Given the description of an element on the screen output the (x, y) to click on. 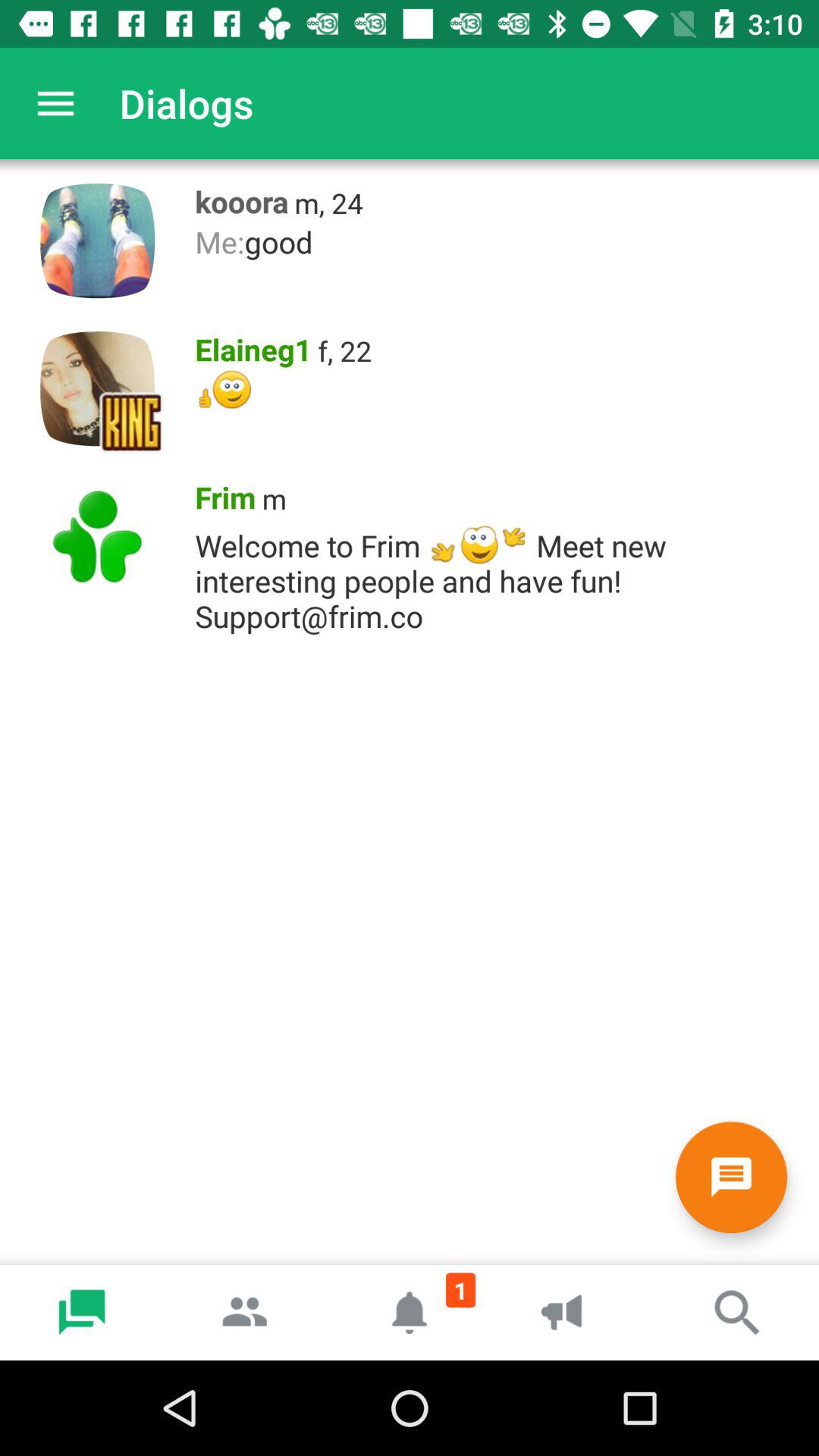
turn off item next to the kooora (328, 202)
